Given the description of an element on the screen output the (x, y) to click on. 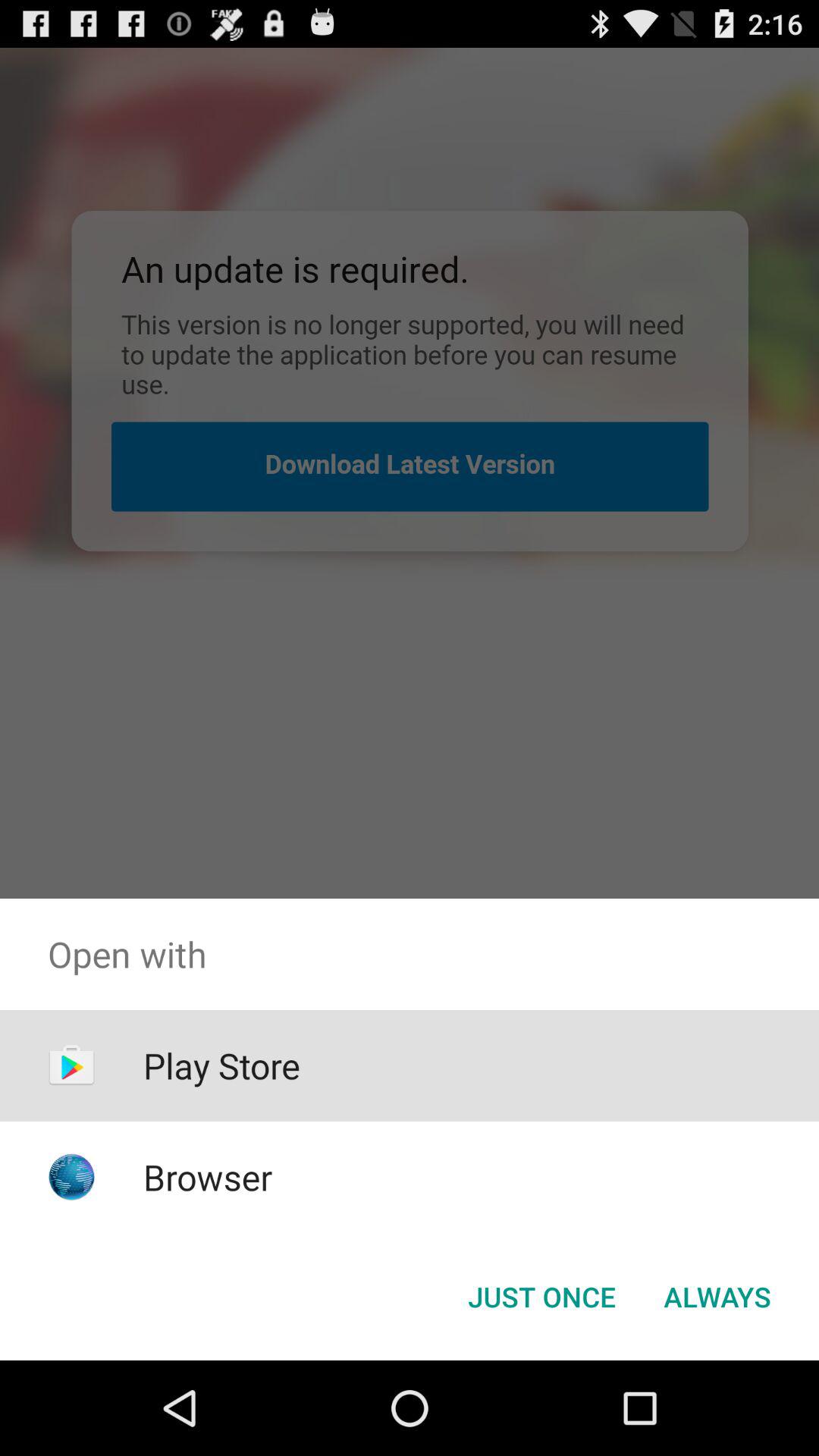
press the always icon (717, 1296)
